Given the description of an element on the screen output the (x, y) to click on. 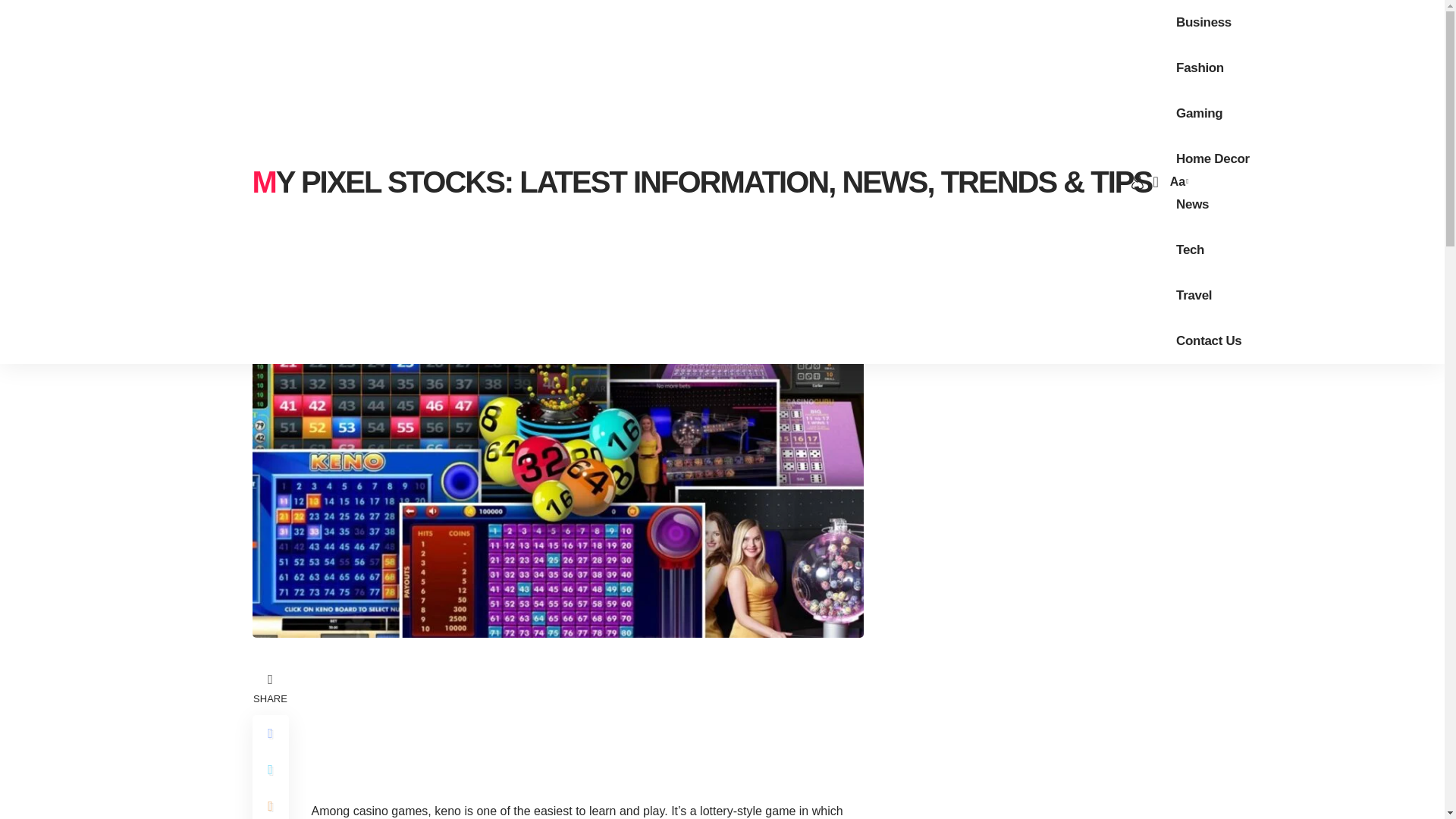
Travel (1194, 295)
Home Decor (1213, 158)
Tech (1189, 249)
Contact Us (1208, 340)
Fashion (1200, 67)
Business (1203, 22)
Gaming (1199, 113)
News (1192, 204)
Aa (1177, 181)
